Given the description of an element on the screen output the (x, y) to click on. 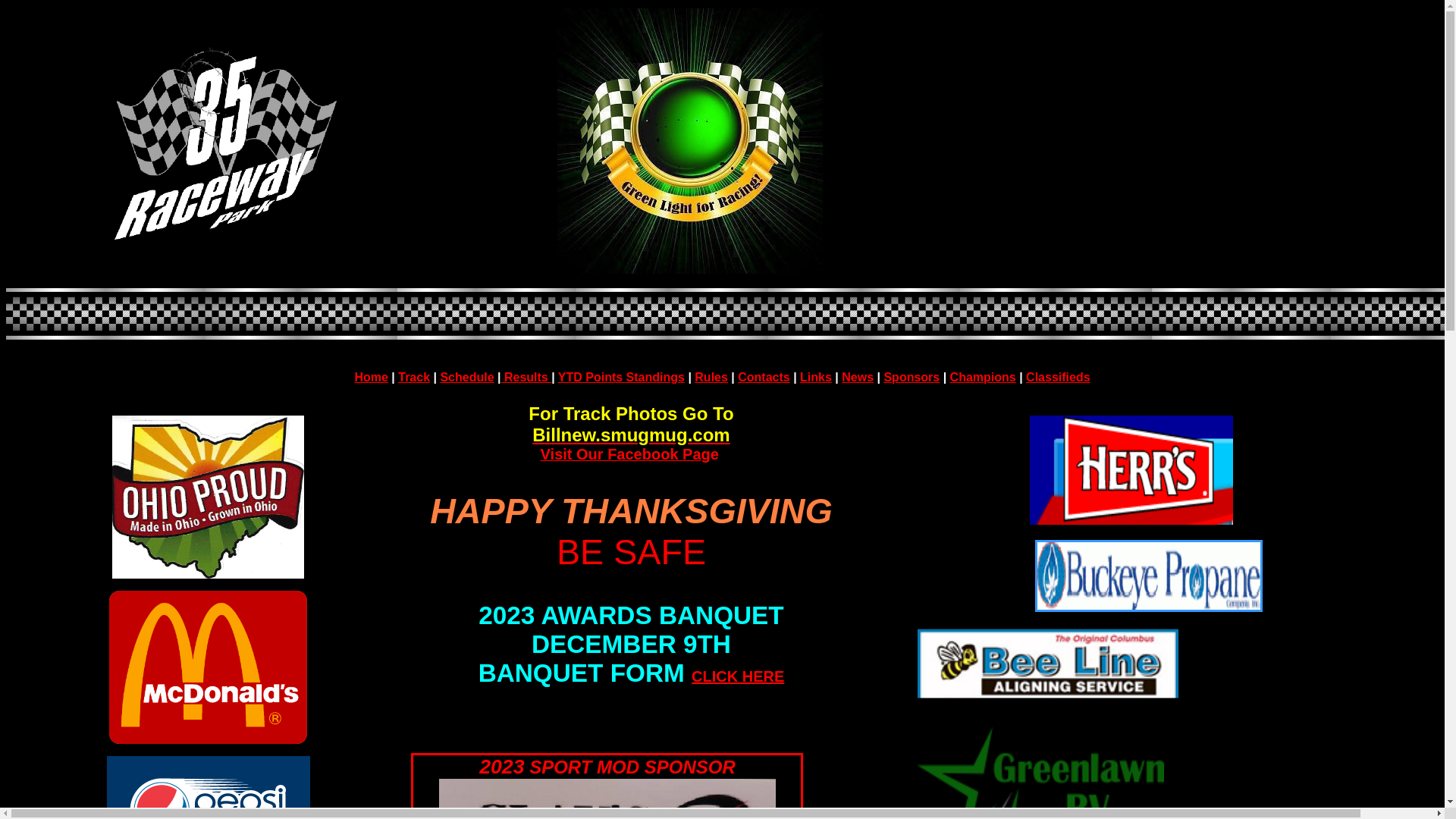
Results Element type: text (525, 376)
Links Element type: text (815, 376)
Visit Our Facebook Pa Element type: text (620, 454)
Schedule Element type: text (466, 376)
Contacts Element type: text (763, 376)
Classifieds Element type: text (1057, 376)
Sponsors Element type: text (911, 376)
YTD Points Standings Element type: text (621, 376)
News Element type: text (857, 376)
Rules Element type: text (711, 376)
Billnew.smugmug.com Element type: text (630, 434)
CLICK HERE Element type: text (737, 676)
Track Element type: text (413, 376)
Champions Element type: text (983, 376)
Home Element type: text (370, 376)
